Given the description of an element on the screen output the (x, y) to click on. 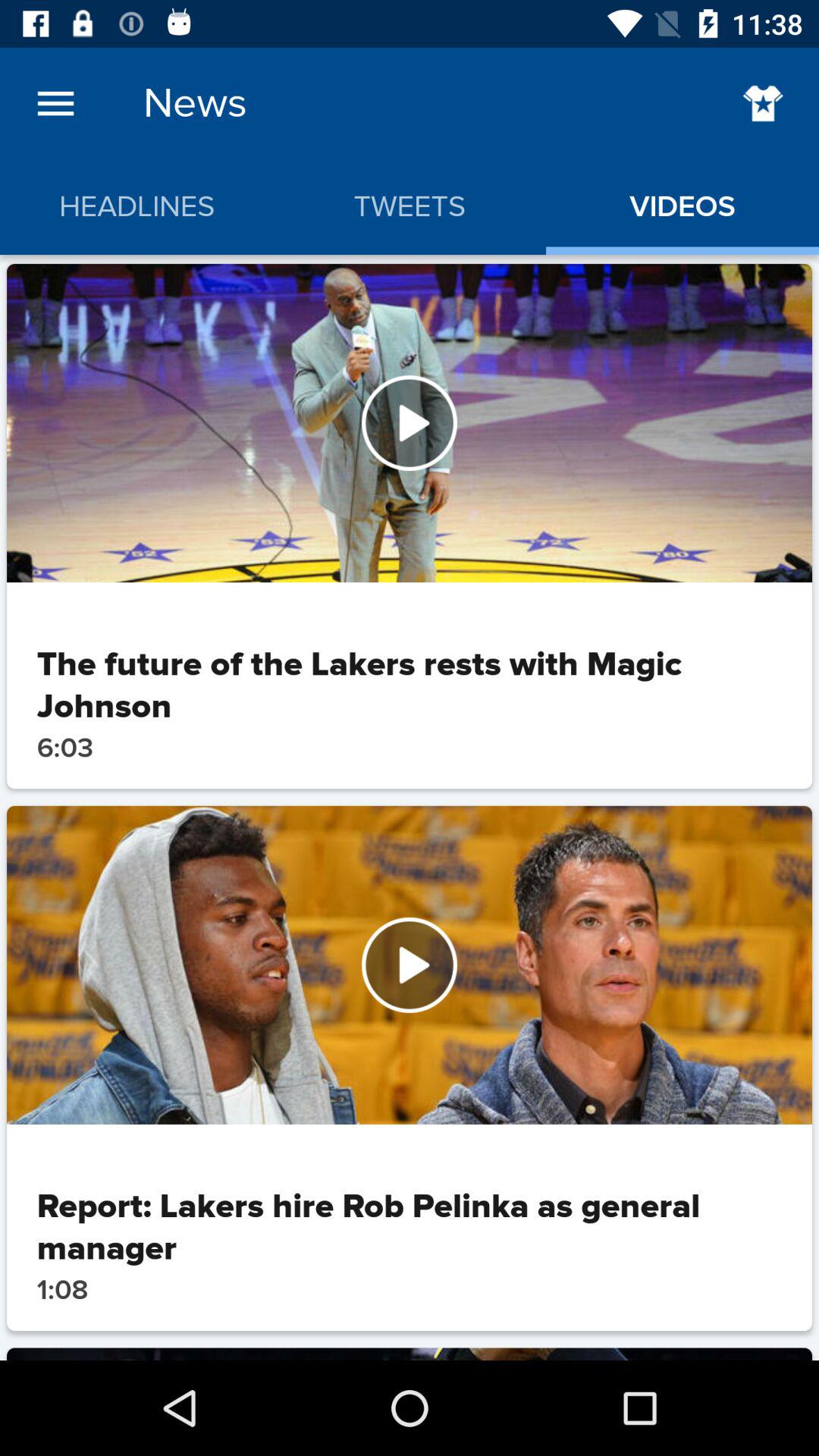
play top video (409, 422)
